Given the description of an element on the screen output the (x, y) to click on. 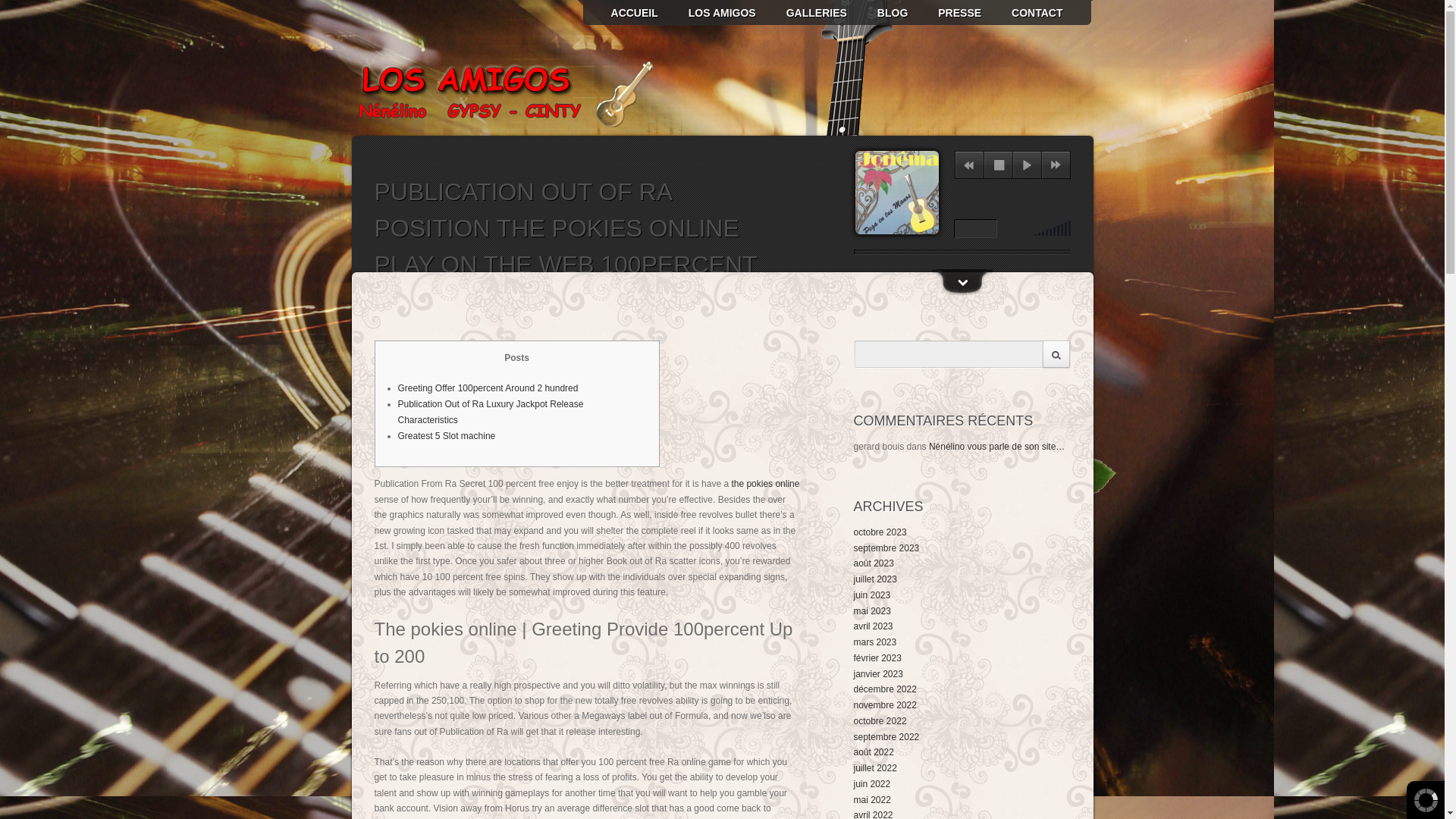
novembre 2022 (885, 705)
janvier 2023 (877, 674)
juillet 2022 (874, 767)
the pokies online (764, 483)
mars 2023 (874, 642)
Greeting Offer 100percent Around 2 hundred (487, 388)
nenelino los amigos (649, 12)
GALLERIES (831, 12)
CONTACT (1052, 12)
BLOG (907, 12)
